Given the description of an element on the screen output the (x, y) to click on. 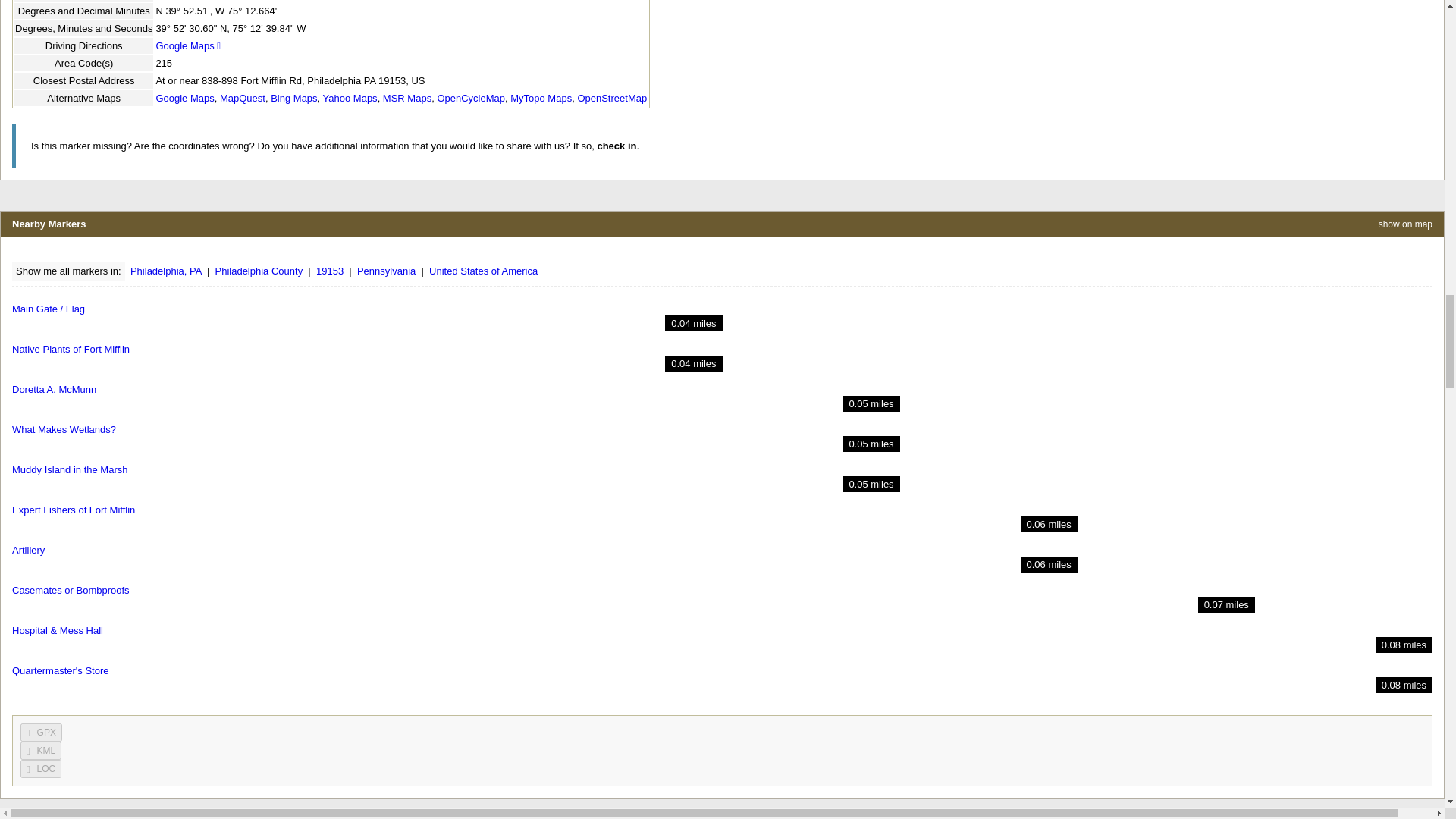
Google Maps (188, 45)
Bing Maps (293, 98)
Google Maps (184, 98)
Yahoo Maps (350, 98)
MapQuest (241, 98)
